Given the description of an element on the screen output the (x, y) to click on. 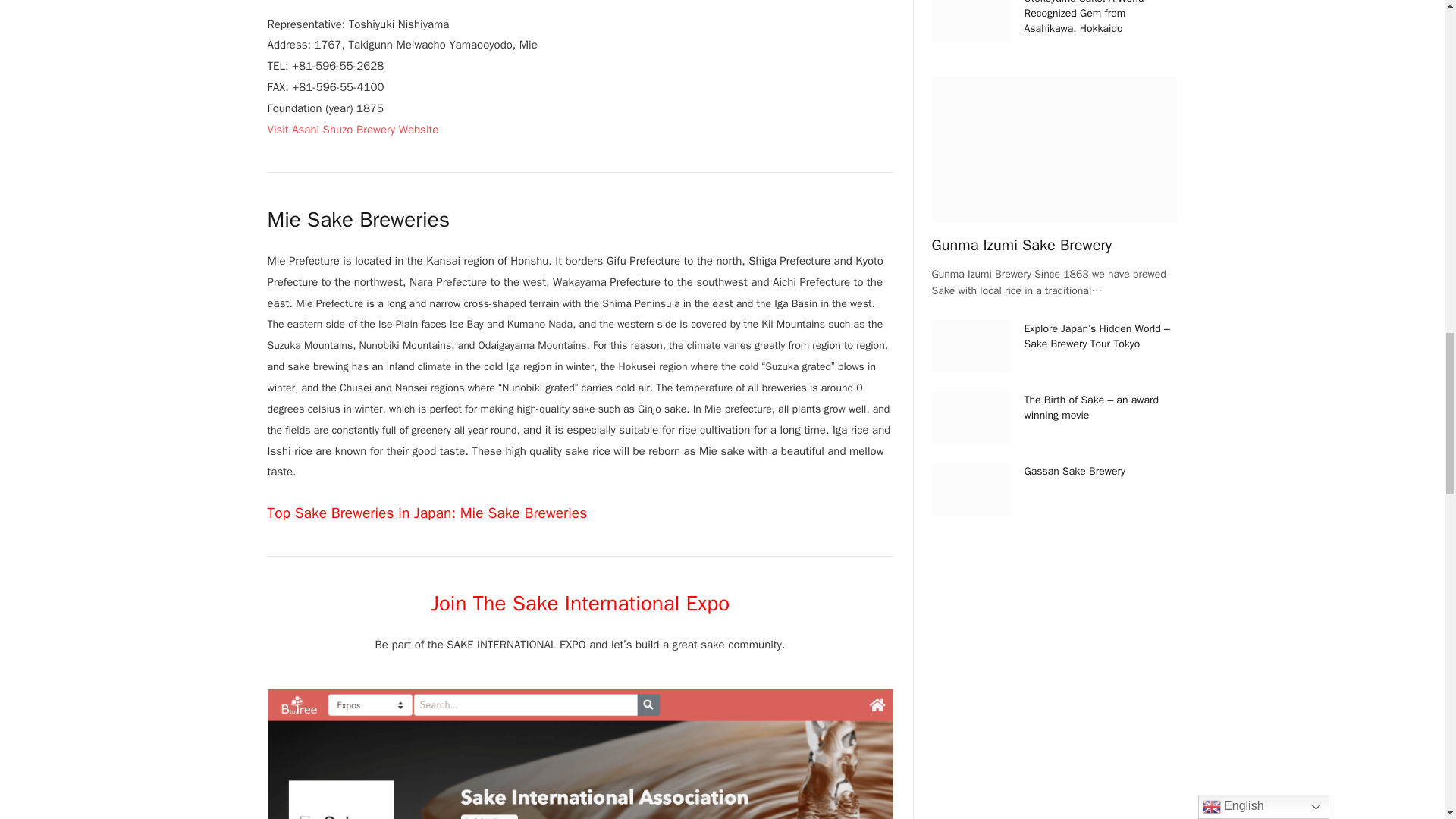
Top Sake Breweries in Japan: Mie Sake Breweries (426, 512)
Visit Asahi Shuzo Brewery Website (352, 129)
